Given the description of an element on the screen output the (x, y) to click on. 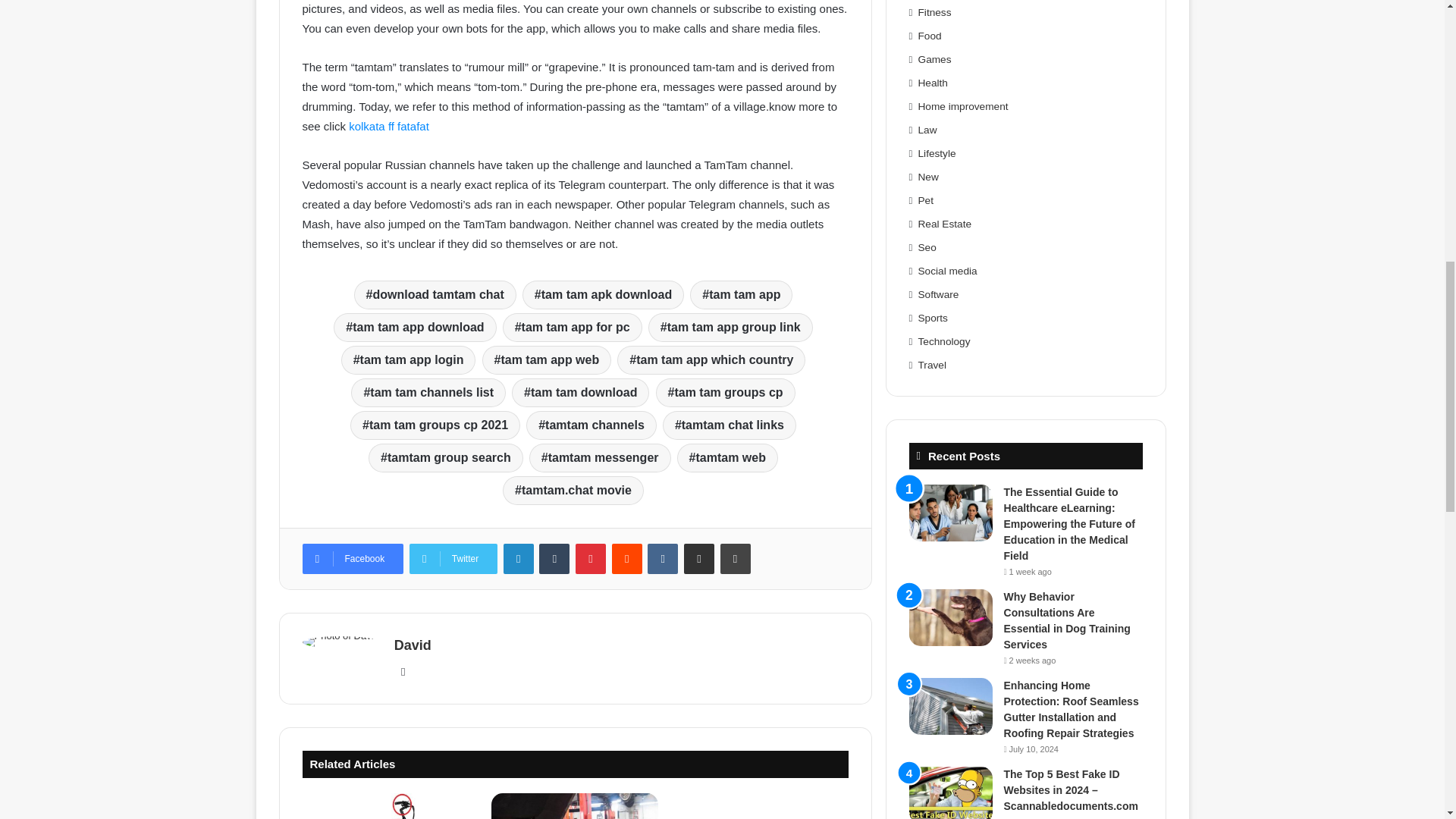
tam tam app group link (729, 327)
tam tam app (741, 294)
tamtam group search (445, 457)
Twitter (453, 558)
tamtam messenger (600, 457)
Tumblr (553, 558)
Reddit (626, 558)
VKontakte (662, 558)
tam tam groups cp (725, 392)
tam tam groups cp 2021 (434, 425)
